Given the description of an element on the screen output the (x, y) to click on. 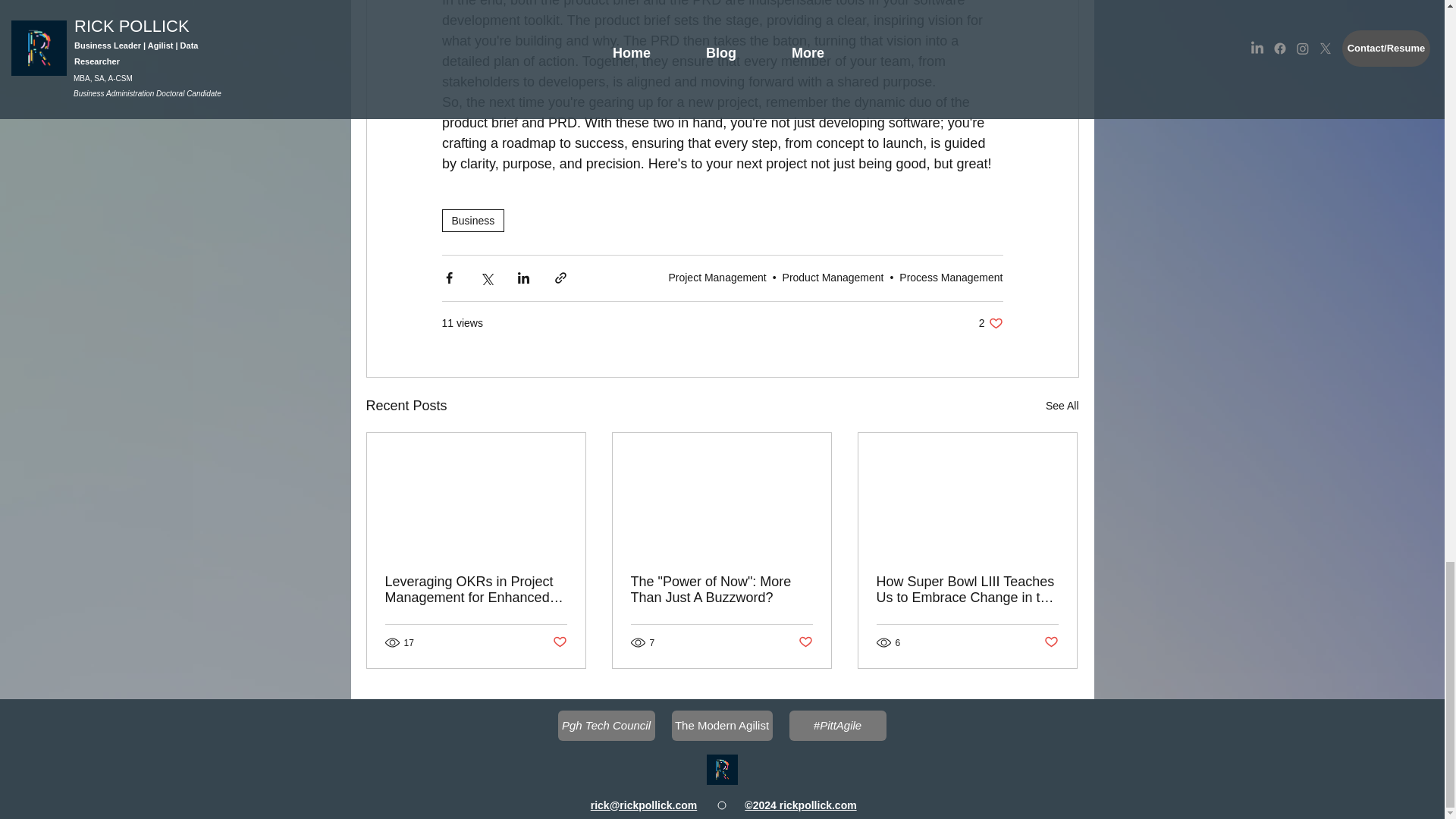
Product Management (990, 323)
See All (833, 277)
Project Management (1061, 405)
Process Management (716, 277)
Business (951, 277)
